Given the description of an element on the screen output the (x, y) to click on. 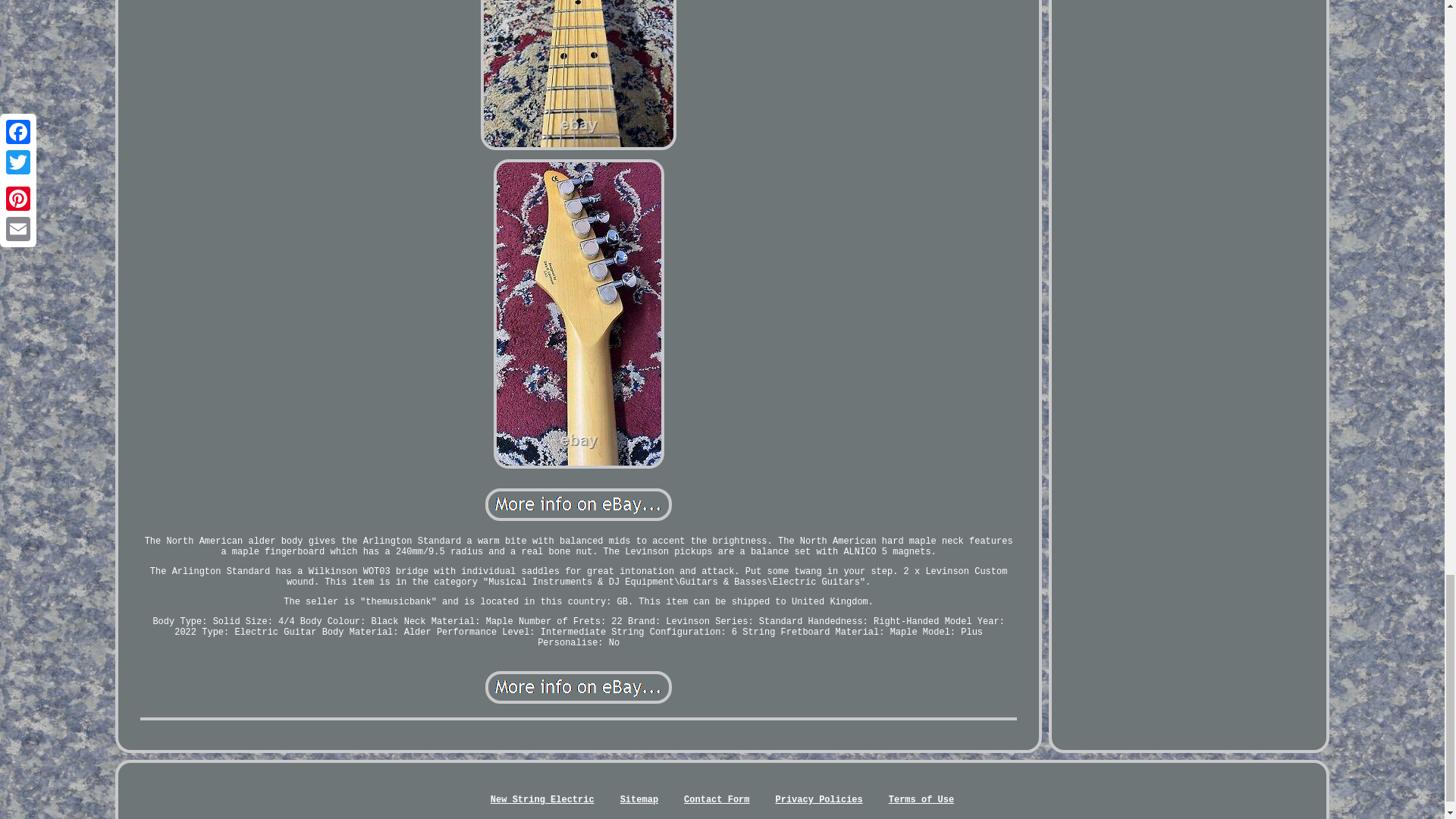
Levinson Sceptre Electric Guitar Arlington Standard (577, 686)
Levinson Sceptre Electric Guitar Arlington Standard (577, 504)
Levinson Sceptre Electric Guitar Arlington Standard (578, 74)
